Given the description of an element on the screen output the (x, y) to click on. 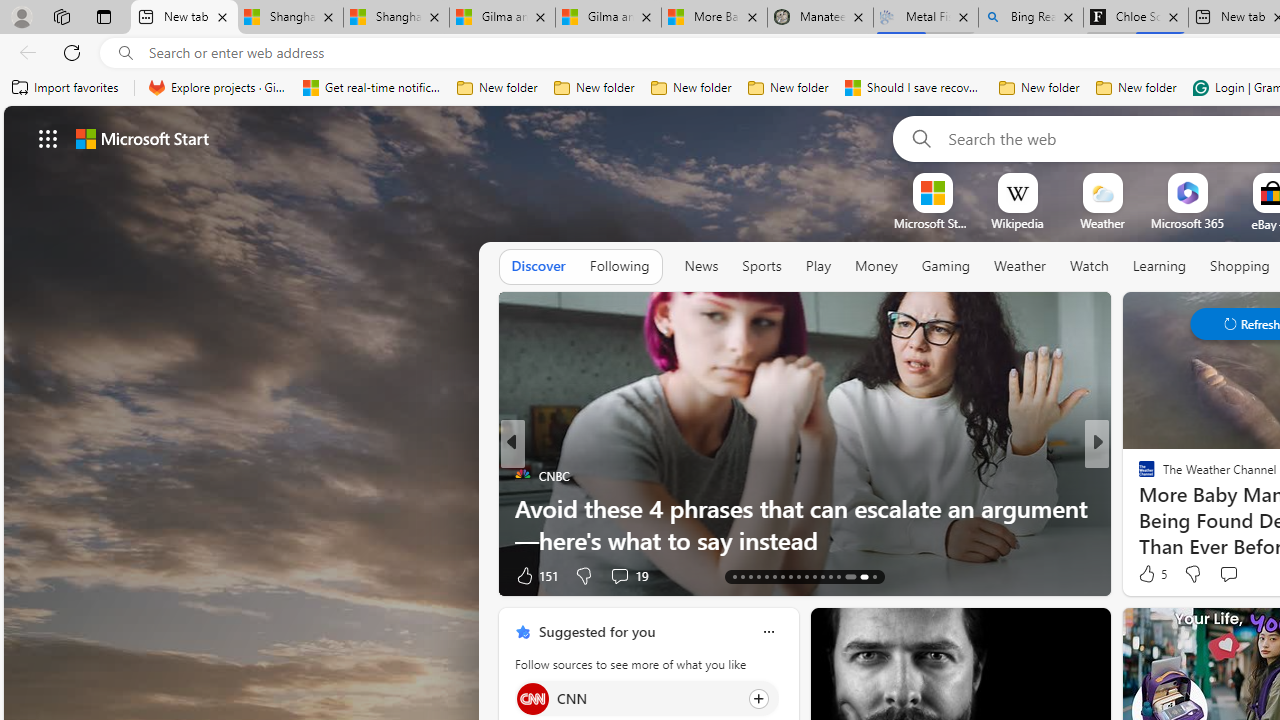
Play (817, 265)
AutomationID: tab-21 (797, 576)
Gilma and Hector both pose tropical trouble for Hawaii (607, 17)
View comments 5 Comment (11, 575)
AutomationID: tab-20 (789, 576)
17 Like (1149, 574)
Should I save recovered Word documents? - Microsoft Support (913, 88)
Play (818, 267)
Sports (761, 267)
AutomationID: tab-14 (742, 576)
